Given the description of an element on the screen output the (x, y) to click on. 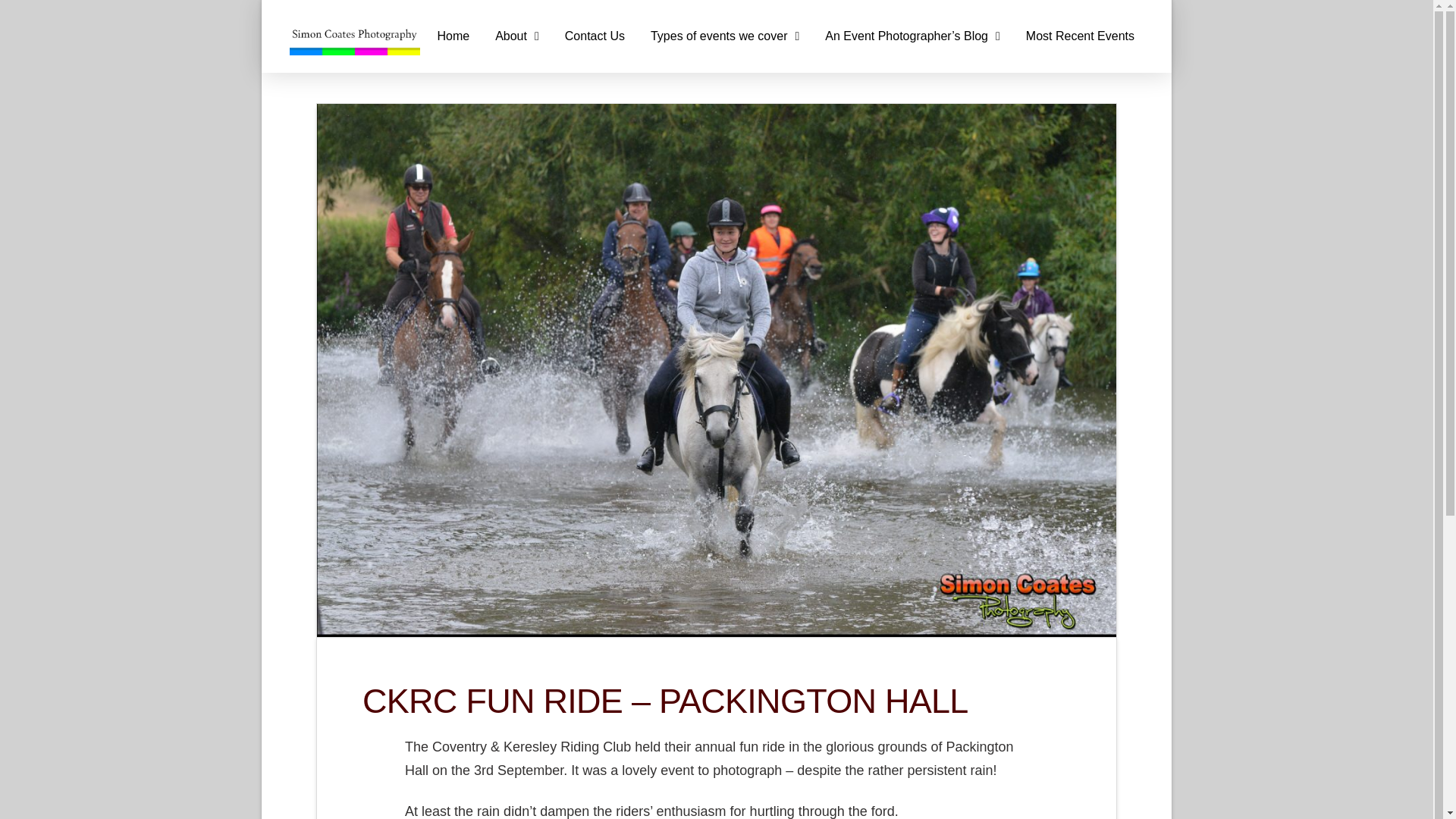
Types of events we cover (724, 36)
Random thoughts (912, 36)
Most Recent Events (1080, 36)
About (516, 36)
Contact Us (594, 36)
